Given the description of an element on the screen output the (x, y) to click on. 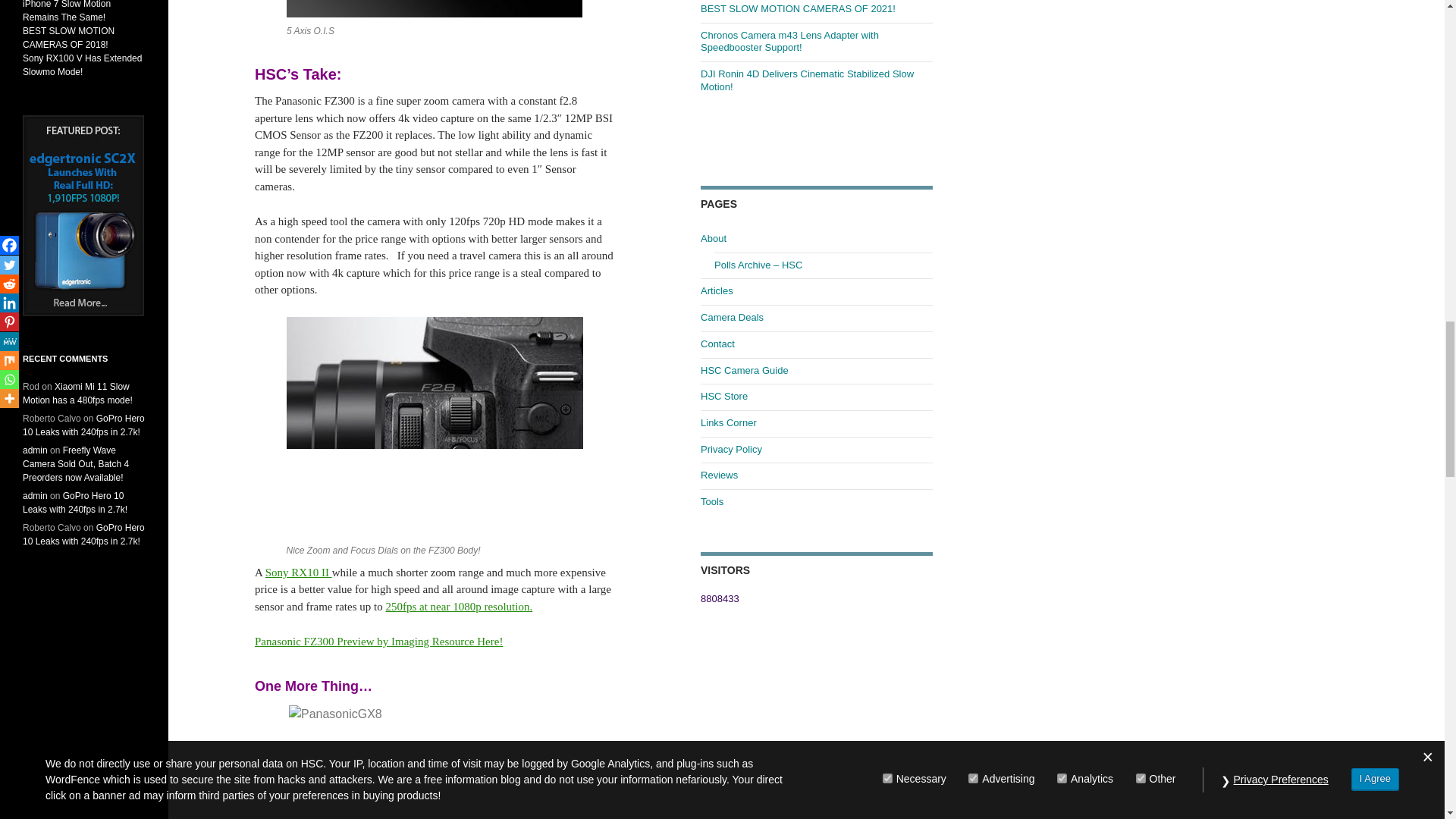
Sony RX10 II (297, 572)
250fps at near 1080p resolution. (458, 606)
Panasonic FZ300 Preview by Imaging Resource Here! (378, 641)
